Given the description of an element on the screen output the (x, y) to click on. 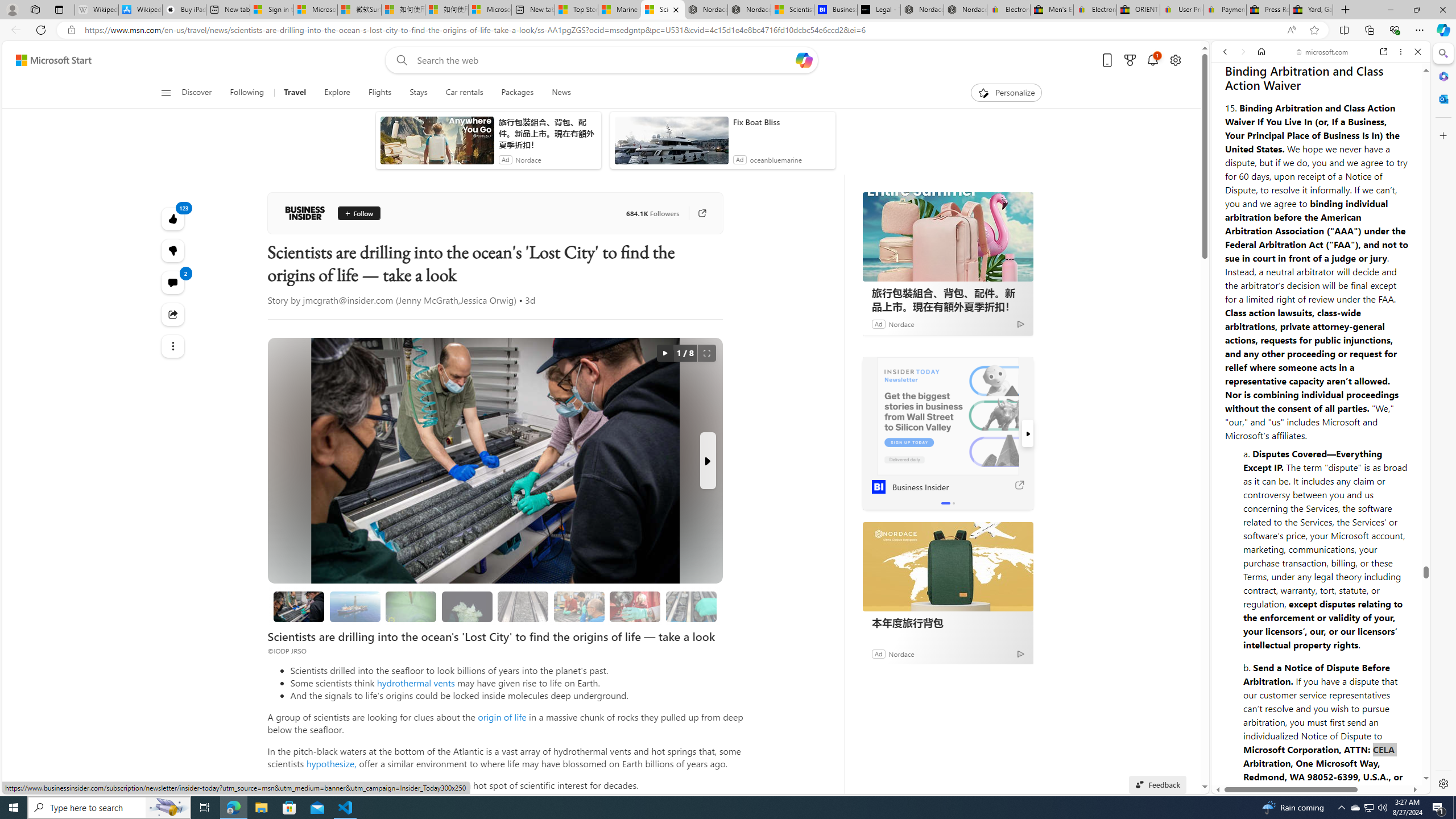
Minimize Search pane (1442, 53)
User Privacy Notice | eBay (1181, 9)
123 (172, 250)
next (1027, 433)
